Given the description of an element on the screen output the (x, y) to click on. 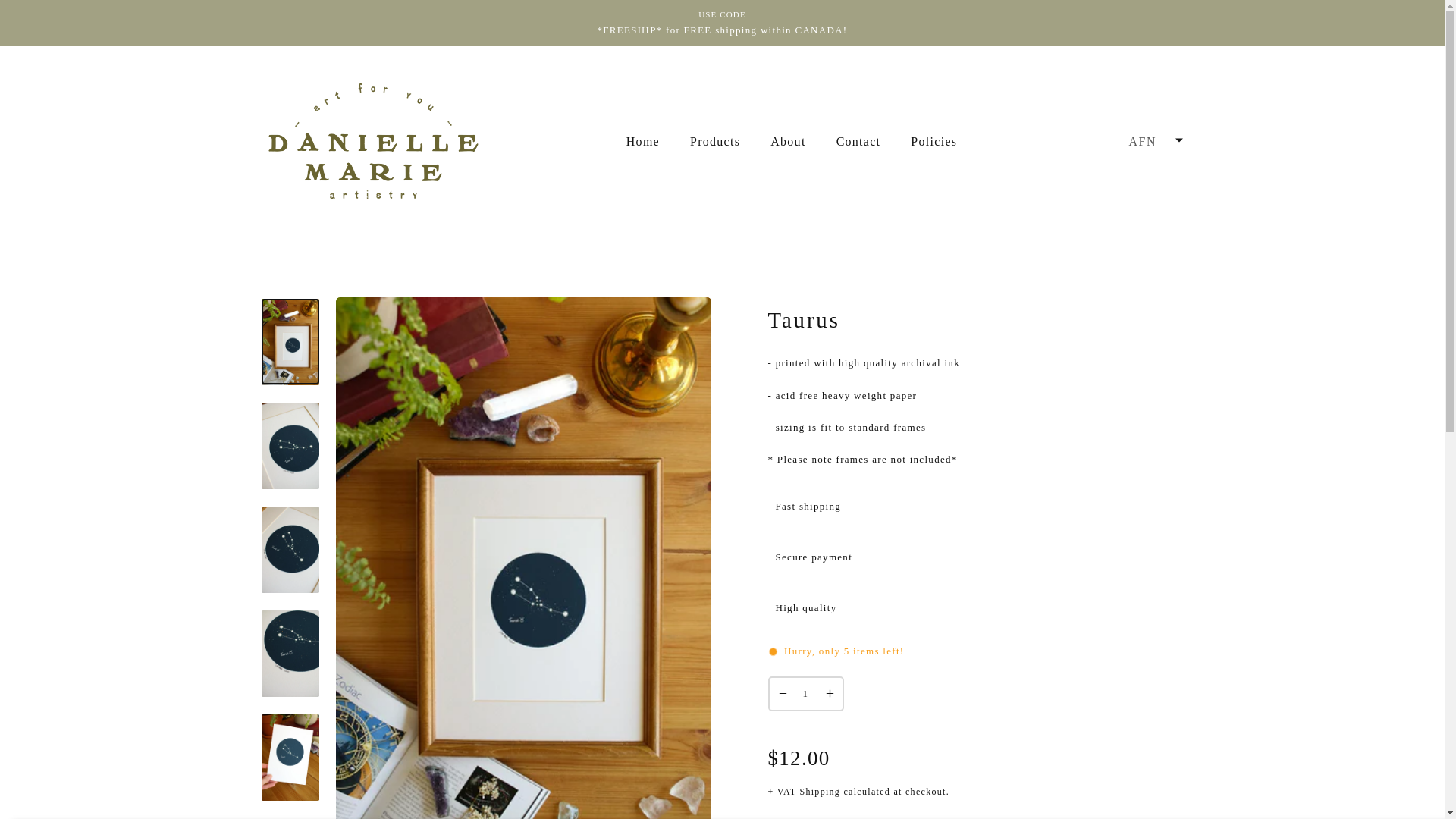
Products (715, 141)
1 (805, 693)
Home (643, 141)
